Given the description of an element on the screen output the (x, y) to click on. 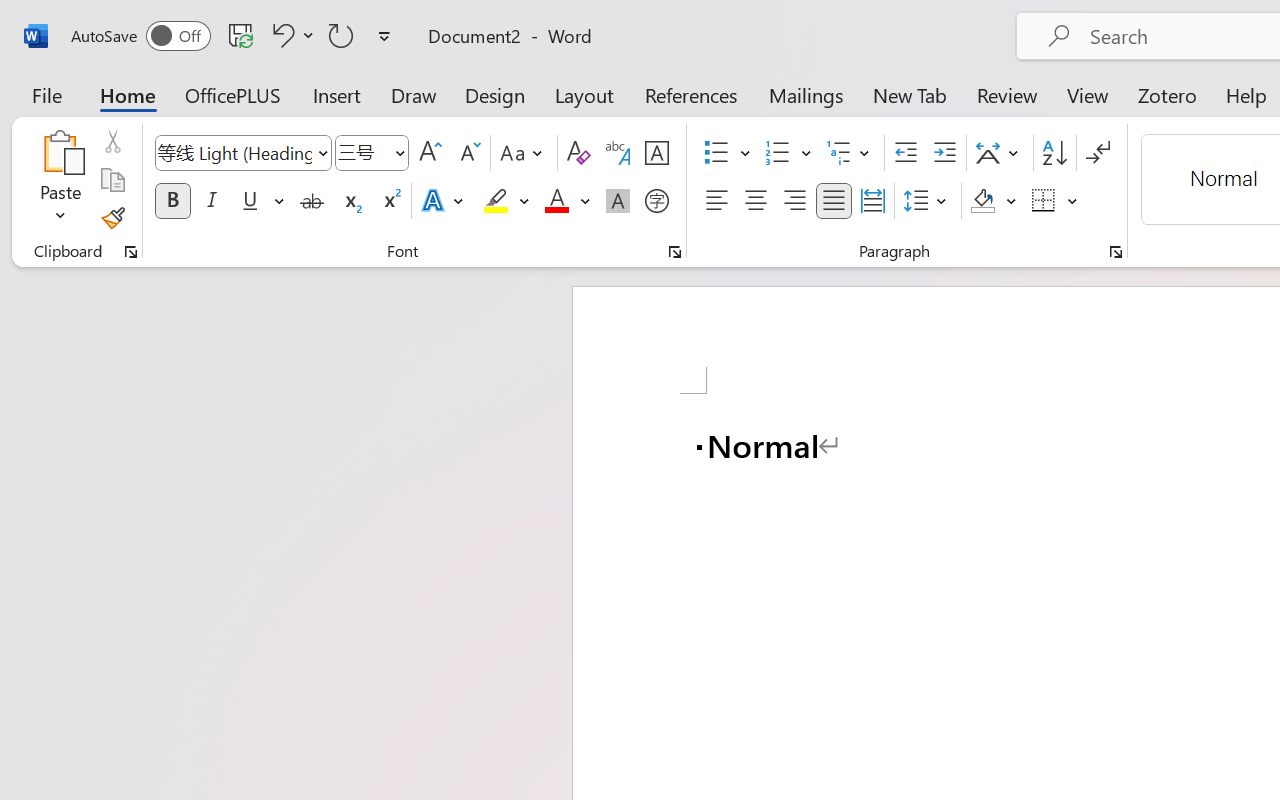
Underline (261, 201)
Draw (413, 94)
Numbering (788, 153)
OfficePLUS (233, 94)
Open (399, 152)
Paste (60, 151)
Zotero (1166, 94)
Distributed (872, 201)
Align Right (794, 201)
Phonetic Guide... (618, 153)
Change Case (524, 153)
Font (242, 153)
Review (1007, 94)
Shrink Font (468, 153)
